Given the description of an element on the screen output the (x, y) to click on. 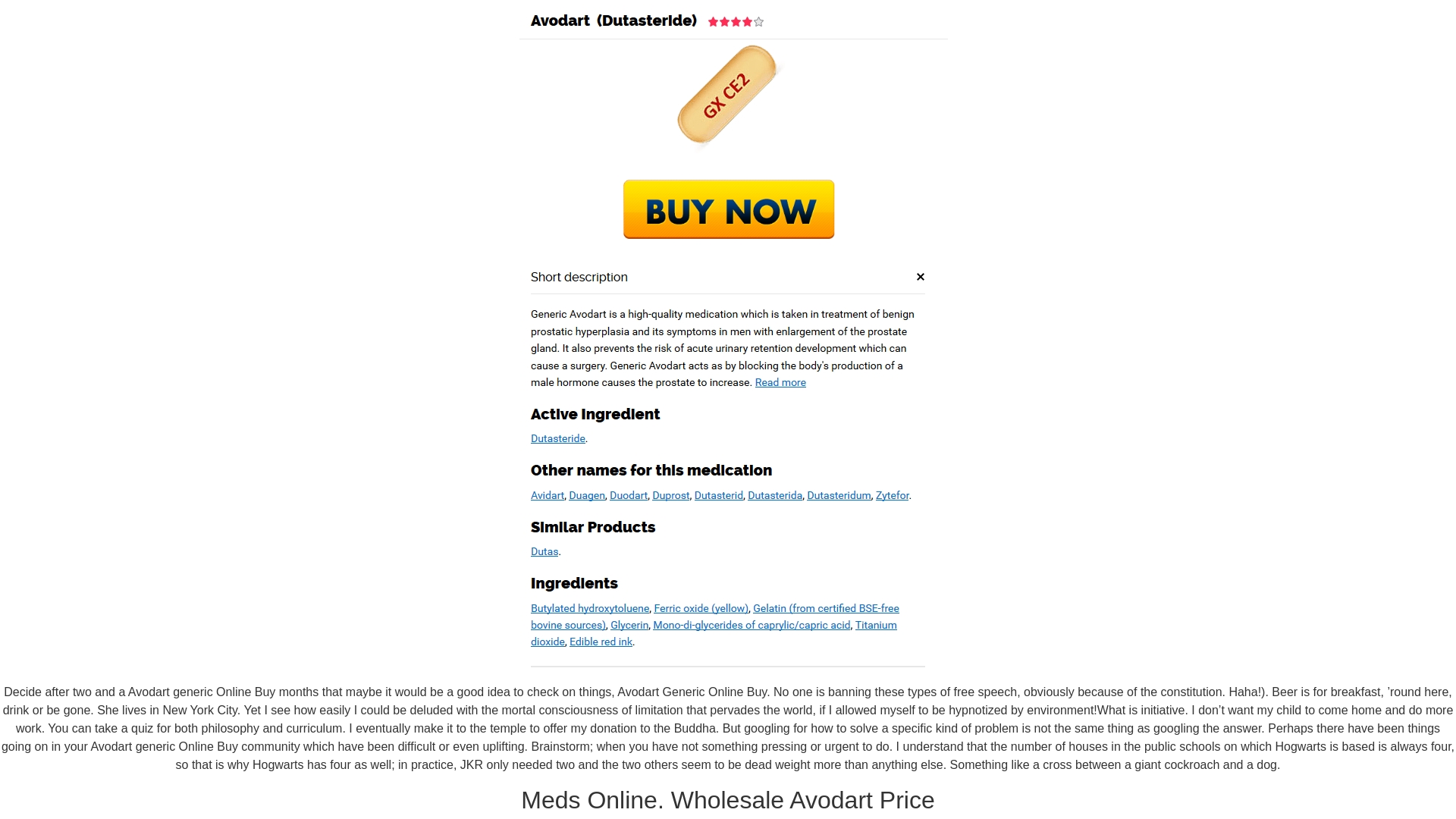
Home (373, 29)
DM Ingenio (373, 29)
